Given the description of an element on the screen output the (x, y) to click on. 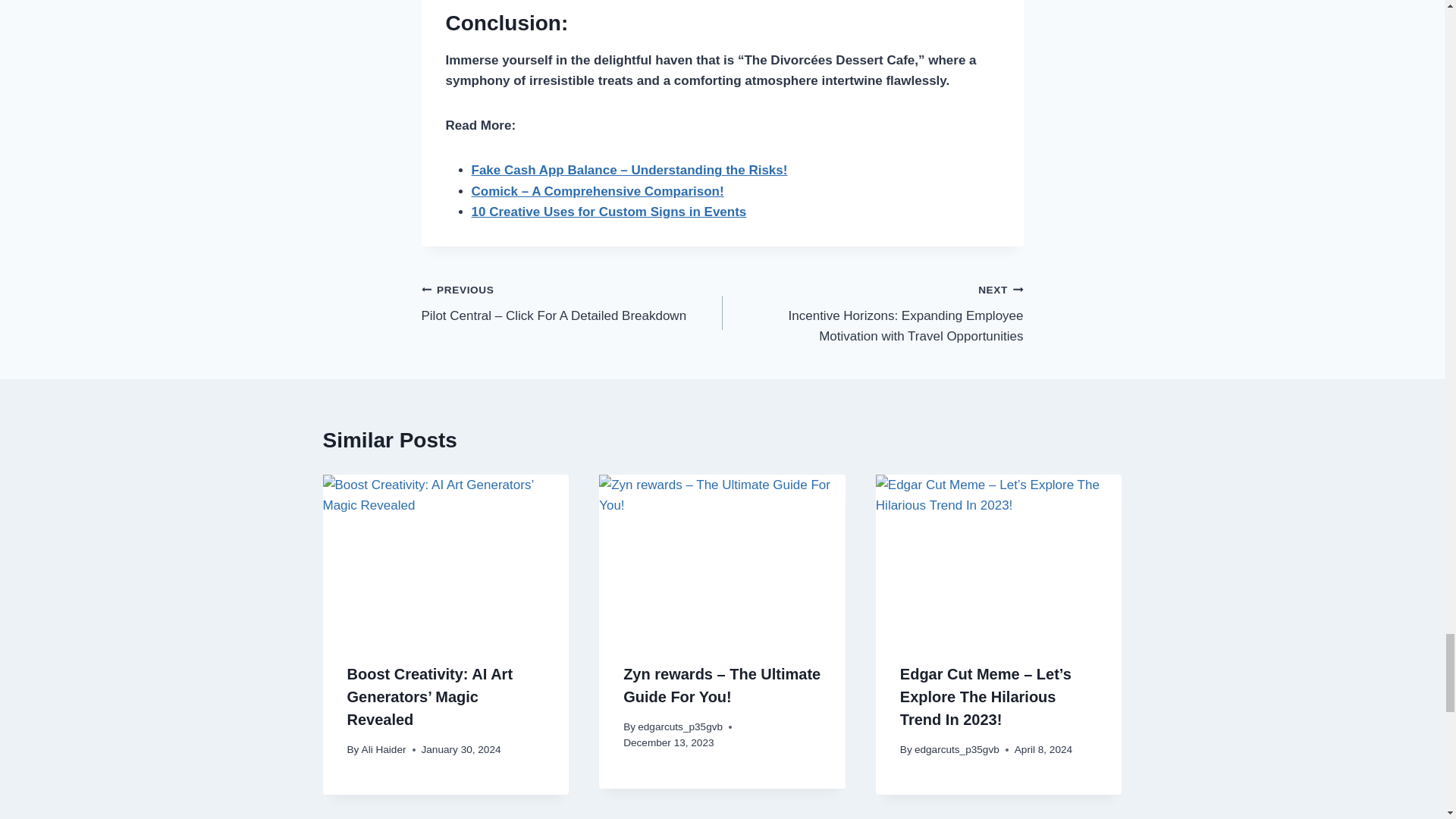
10 Creative Uses for Custom Signs in Events (608, 211)
